Given the description of an element on the screen output the (x, y) to click on. 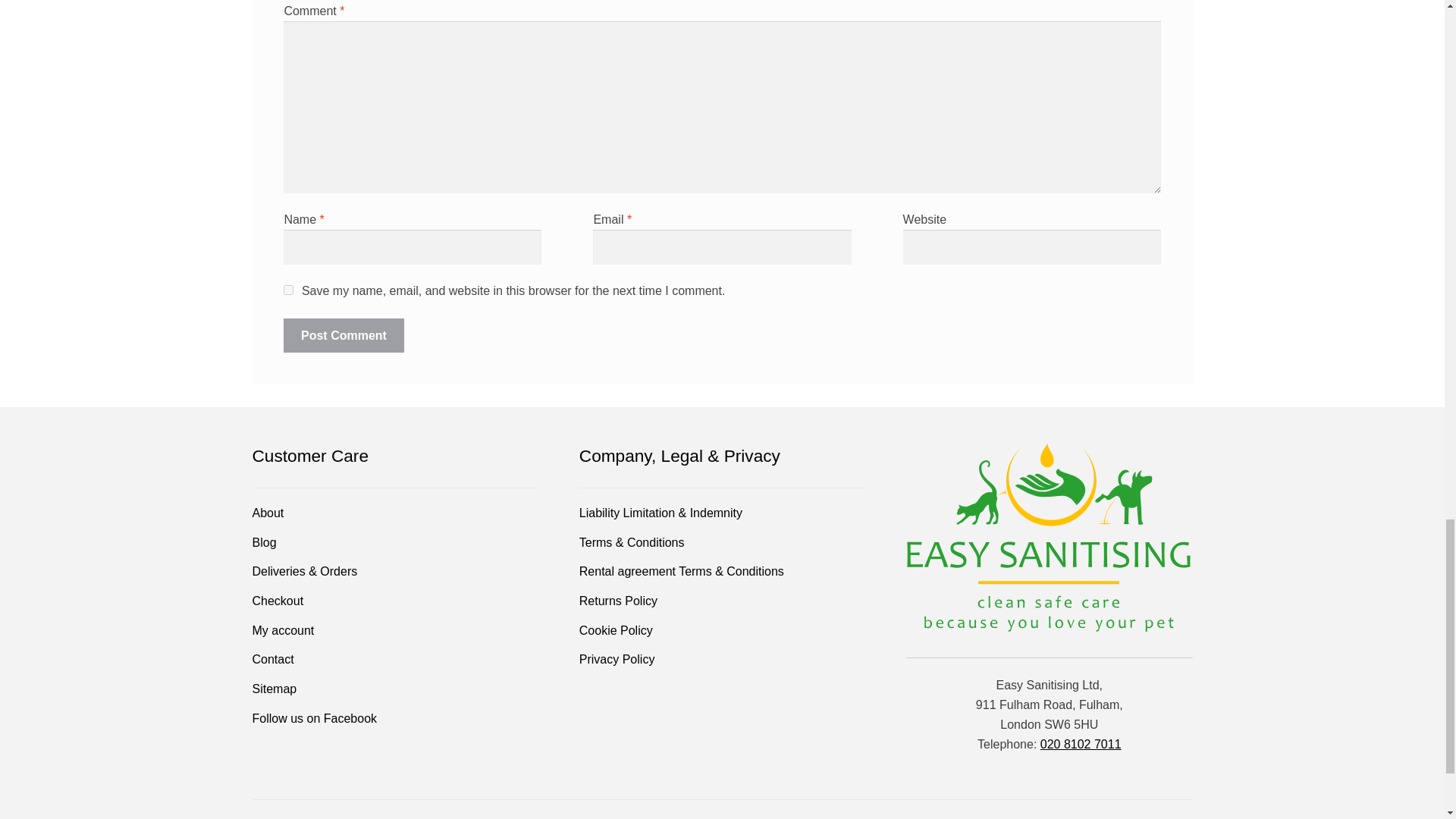
About (267, 512)
yes (288, 289)
Post Comment (343, 335)
Post Comment (343, 335)
